Given the description of an element on the screen output the (x, y) to click on. 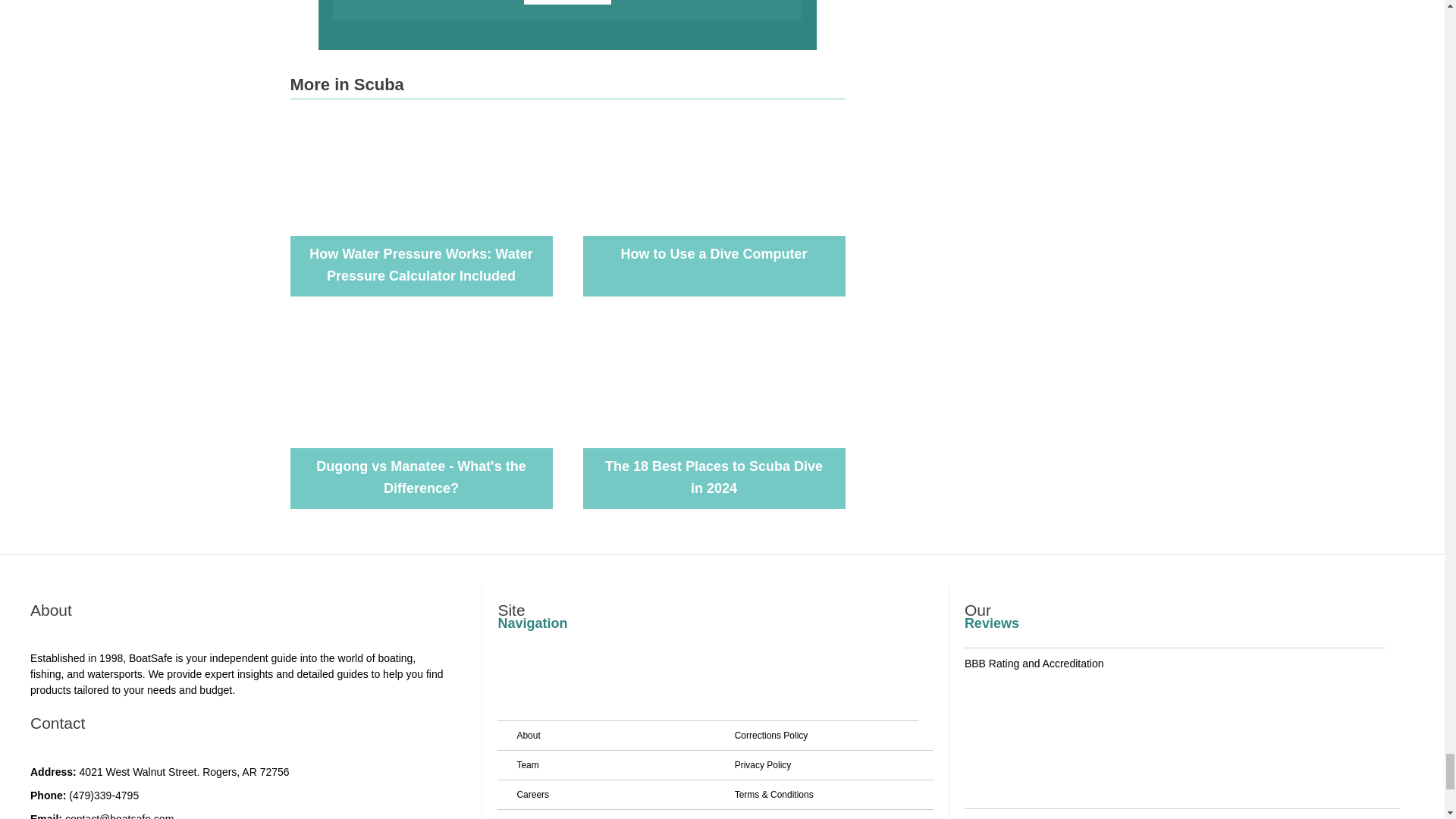
How Water Pressure Works: Water Pressure Calculator Included (420, 264)
Post Comment (567, 2)
More in Scuba (346, 84)
Post Comment (567, 2)
